Given the description of an element on the screen output the (x, y) to click on. 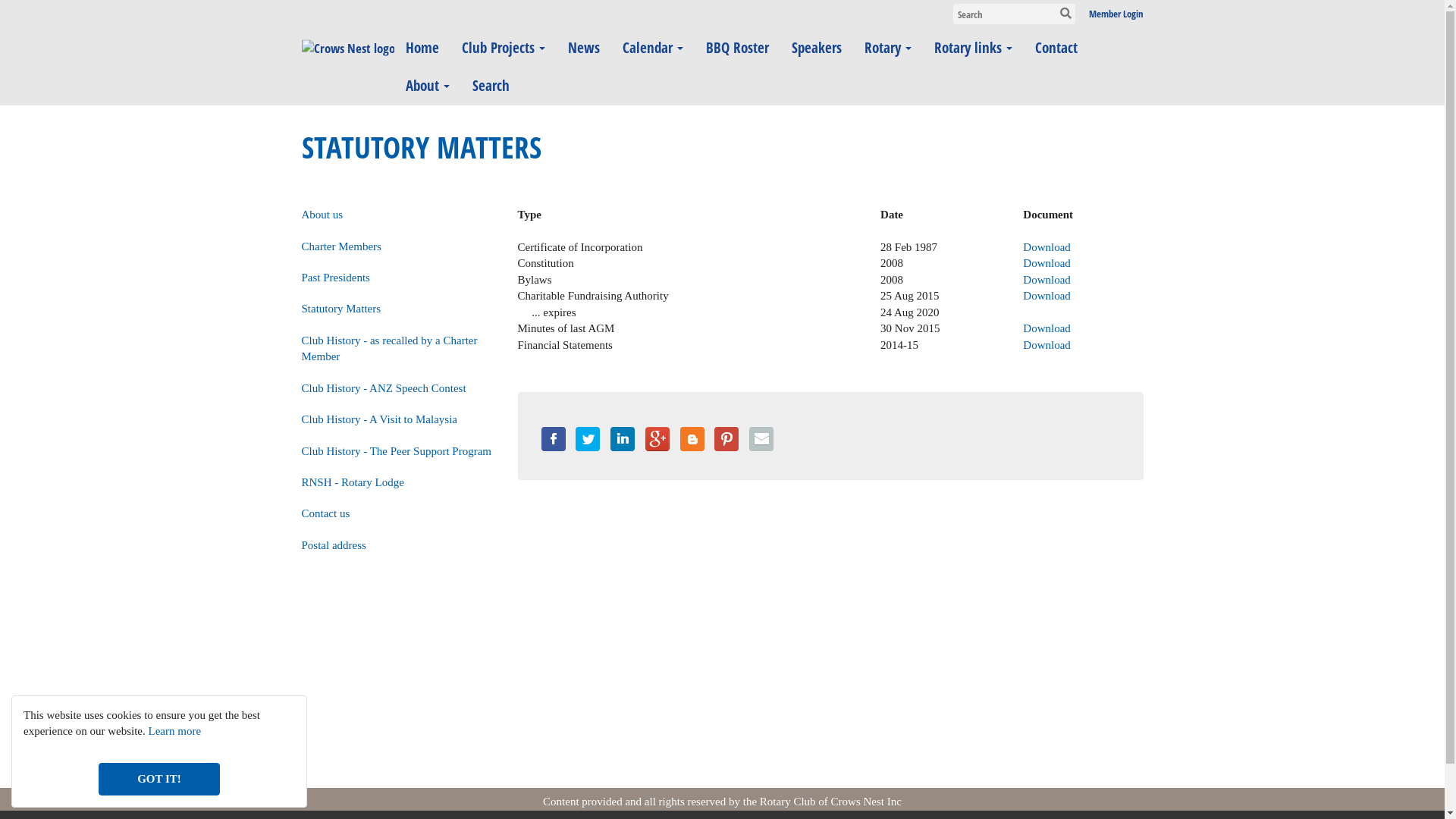
Calendar Element type: text (652, 47)
Download Element type: text (1046, 279)
Download Element type: text (1046, 247)
Statutory Matters Element type: text (341, 308)
About us Element type: text (322, 214)
BBQ Roster Element type: text (737, 47)
RNSH - Rotary Lodge Element type: text (352, 482)
Club History - as recalled by a Charter Member Element type: text (389, 348)
Member Login Element type: text (1115, 13)
Postal address Element type: text (333, 545)
Rotary Element type: text (887, 47)
Rotary links Element type: text (972, 47)
Past Presidents Element type: text (335, 277)
Club History - ANZ Speech Contest Element type: text (383, 388)
Download Element type: text (1046, 344)
Club History - A Visit to Malaysia Element type: text (379, 419)
Download Element type: text (1046, 295)
Download Element type: text (1046, 328)
Speakers Element type: text (815, 47)
About Element type: text (427, 85)
Club History - The Peer Support Program Element type: text (396, 451)
Home Element type: text (422, 47)
Charter Members Element type: text (341, 246)
GOT IT! Element type: text (158, 778)
Download Element type: text (1046, 263)
Rotary Club of Crows Nest Inc Element type: text (830, 801)
News Element type: text (583, 47)
Search Element type: text (490, 85)
Contact us Element type: text (325, 513)
Club Projects Element type: text (503, 47)
Learn more Element type: text (174, 730)
Contact Element type: text (1055, 47)
